Given the description of an element on the screen output the (x, y) to click on. 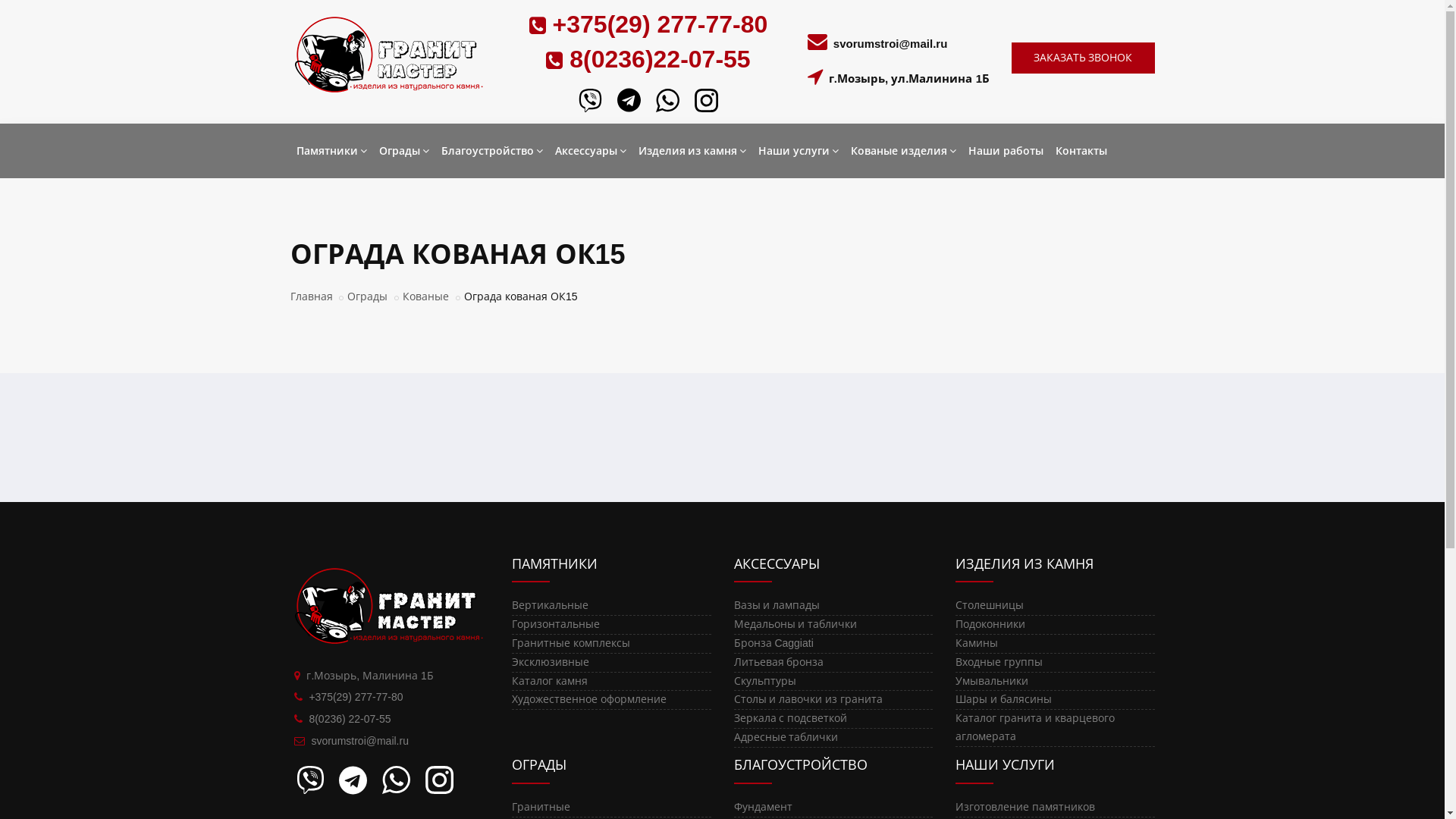
svorumstroi@mail.ru Element type: text (890, 43)
8(0236)22-07-55 Element type: text (655, 58)
svorumstroi@mail.ru Element type: text (359, 740)
+375(29) 277-77-80 Element type: text (657, 23)
8(0236) 22-07-55 Element type: text (349, 718)
+375(29) 277-77-80 Element type: text (355, 696)
